Given the description of an element on the screen output the (x, y) to click on. 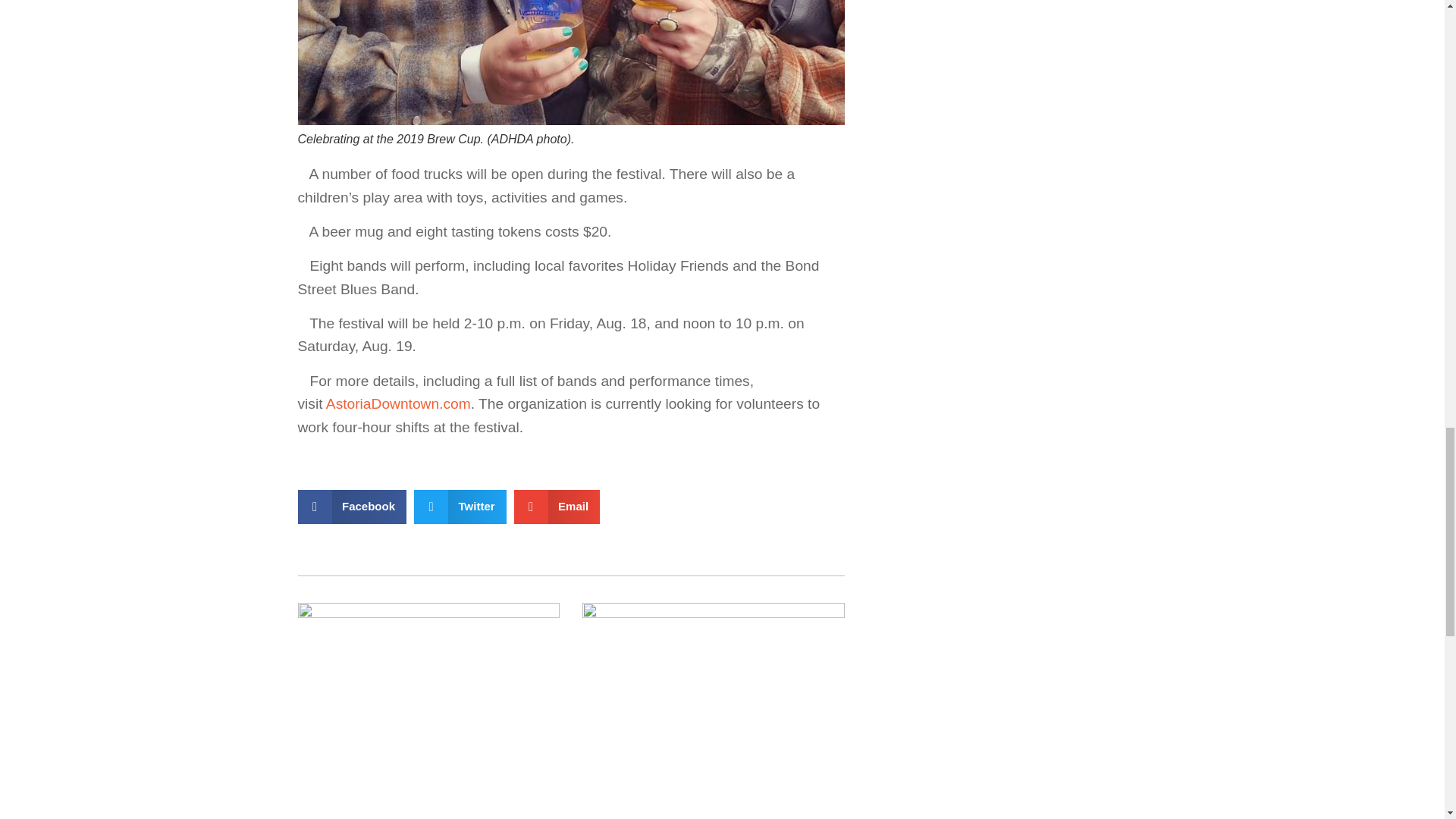
AstoriaDowntown.com (398, 403)
